Given the description of an element on the screen output the (x, y) to click on. 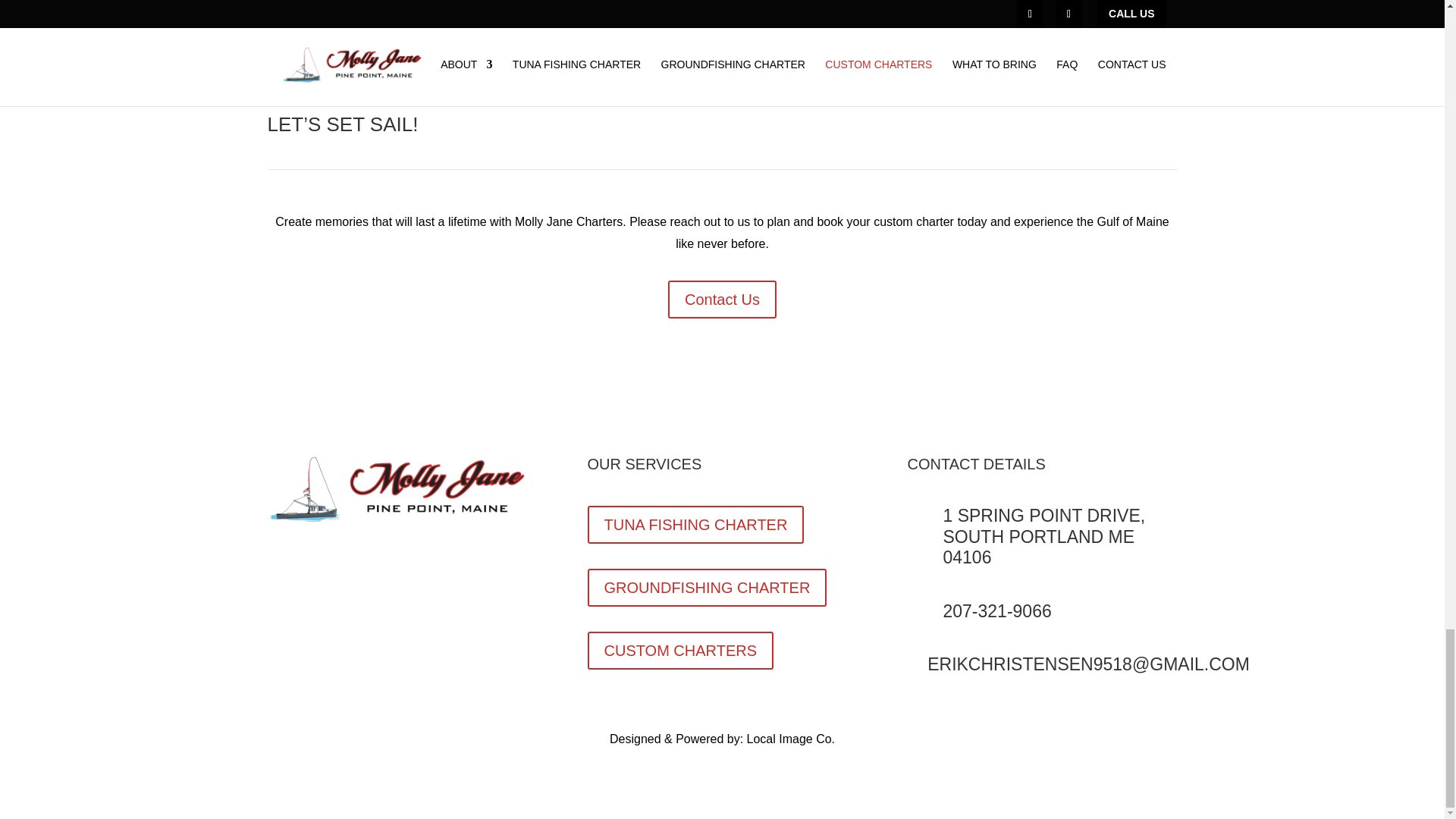
Follow (309, 558)
CUSTOM CHARTERS (679, 650)
Local Image Co. (790, 738)
TUNA FISHING CHARTER (694, 524)
Follow (278, 558)
GROUNDFISHING CHARTER (706, 587)
Follow on Facebook (278, 558)
Follow on Instagram (309, 558)
Contact Us (722, 299)
